Given the description of an element on the screen output the (x, y) to click on. 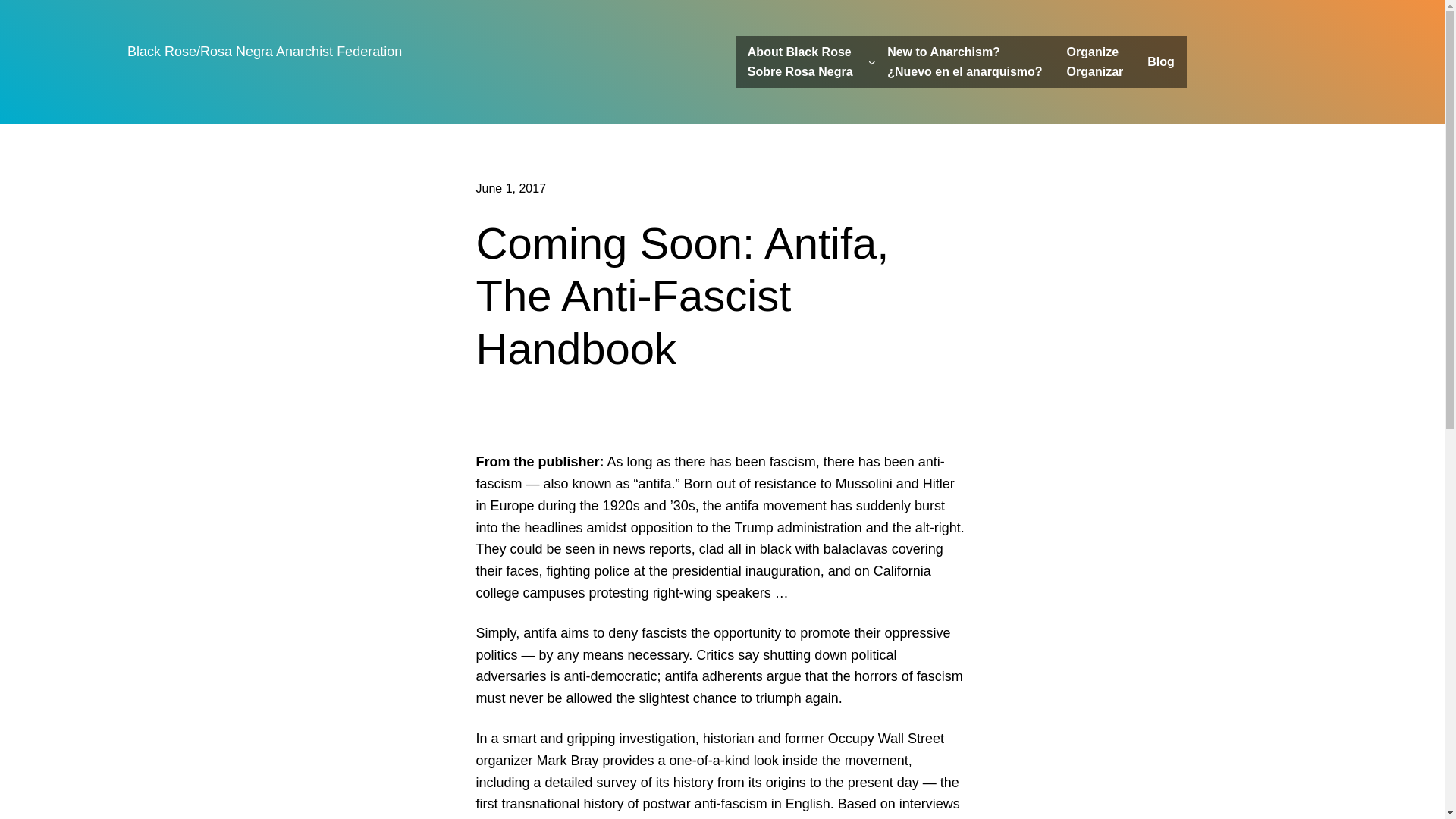
Blog (799, 61)
